Given the description of an element on the screen output the (x, y) to click on. 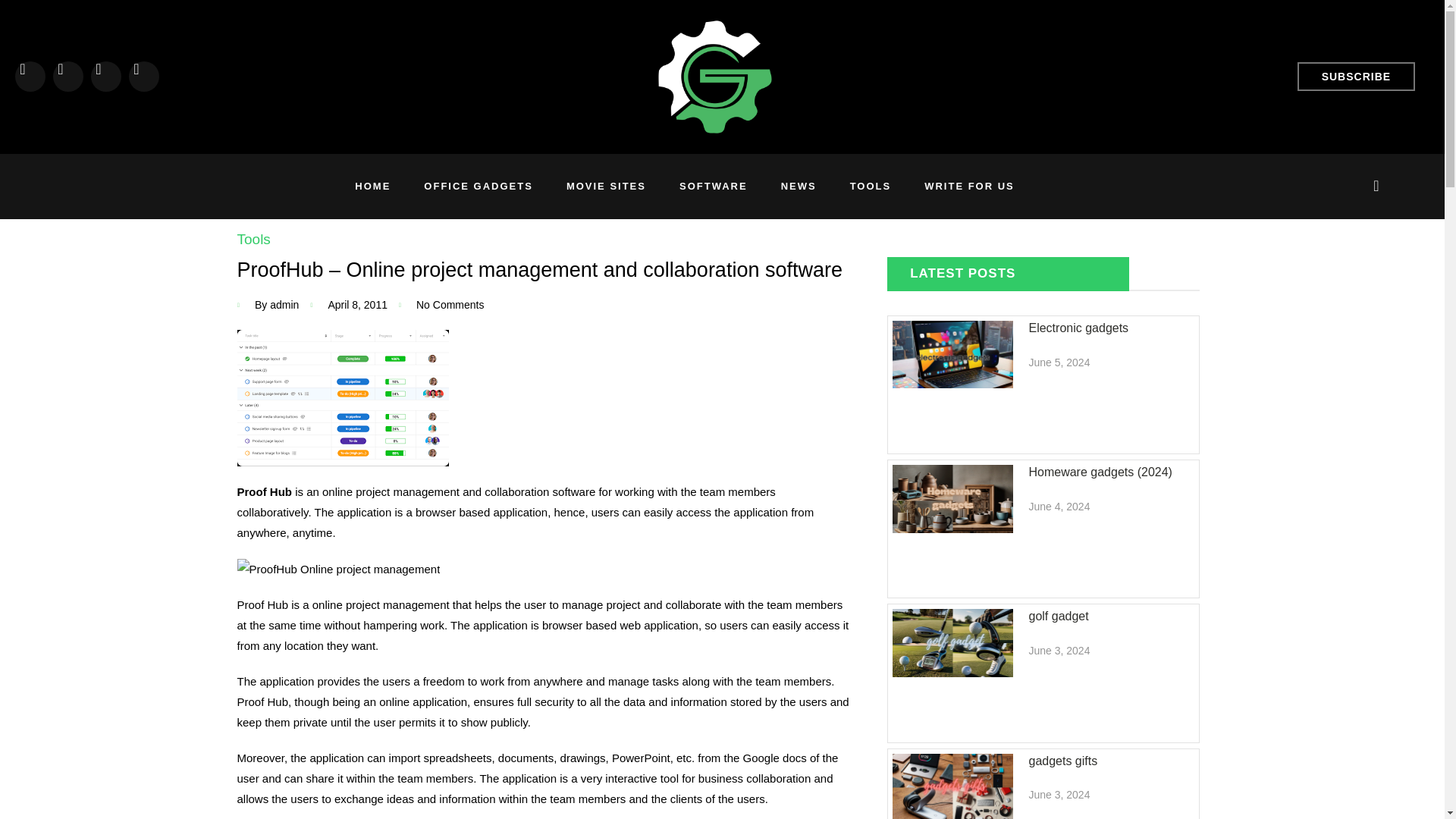
WRITE FOR US (968, 185)
OFFICE GADGETS (478, 185)
By admin (266, 304)
HOME (372, 185)
April 8, 2011 (348, 304)
MOVIE SITES (606, 185)
ProofHub Online project management (337, 568)
TOOLS (870, 185)
Tools (252, 238)
SUBSCRIBE (1356, 76)
